Given the description of an element on the screen output the (x, y) to click on. 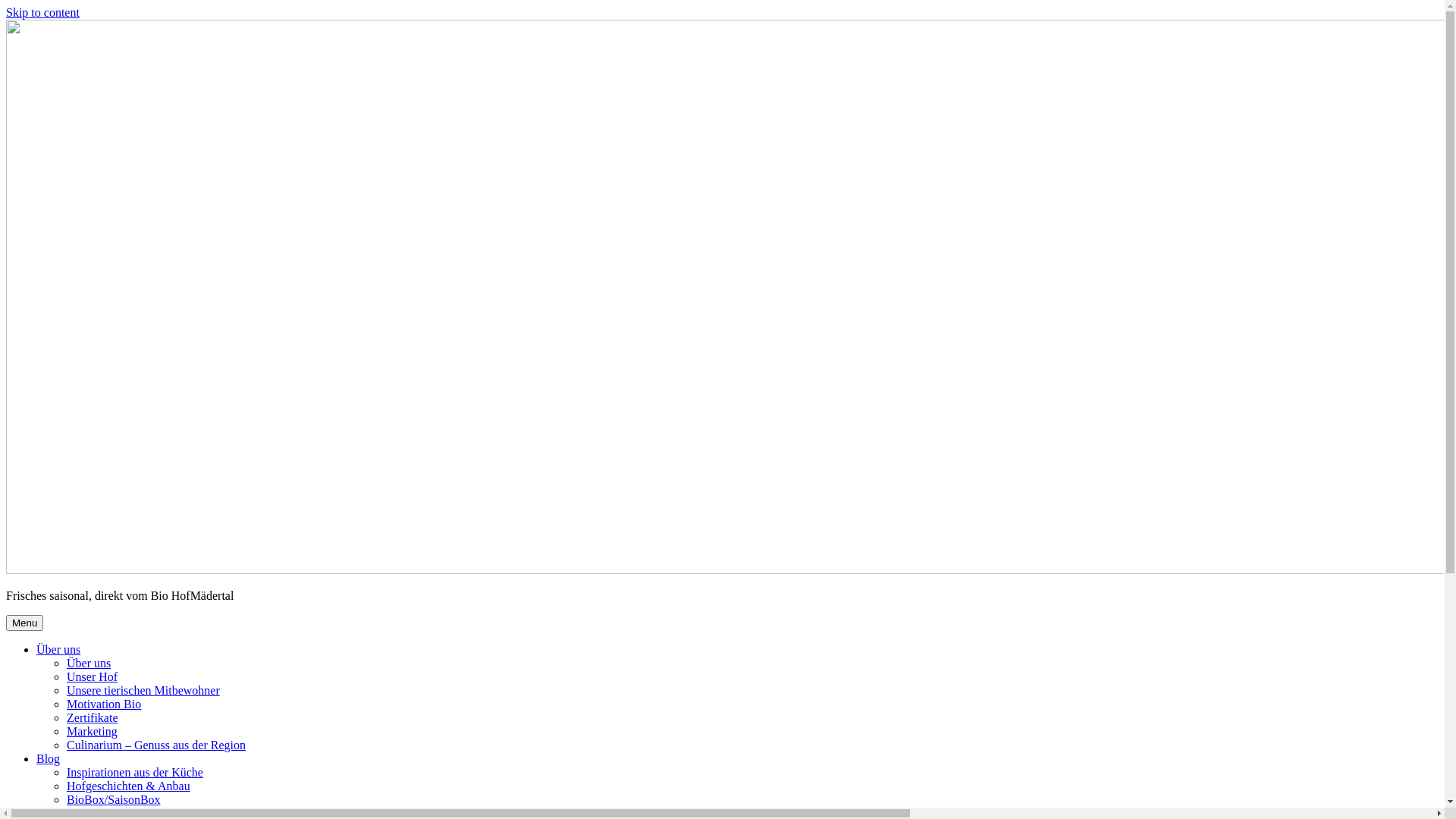
Unser Hof Element type: text (91, 676)
Marketing Element type: text (91, 730)
Hofgeschichten & Anbau Element type: text (128, 785)
Skip to content Element type: text (42, 12)
Unsere tierischen Mitbewohner Element type: text (142, 690)
Zertifikate Element type: text (92, 717)
Menu Element type: text (24, 622)
Blog Element type: text (47, 758)
Motivation Bio Element type: text (103, 703)
BioBox/SaisonBox Element type: text (113, 799)
